Given the description of an element on the screen output the (x, y) to click on. 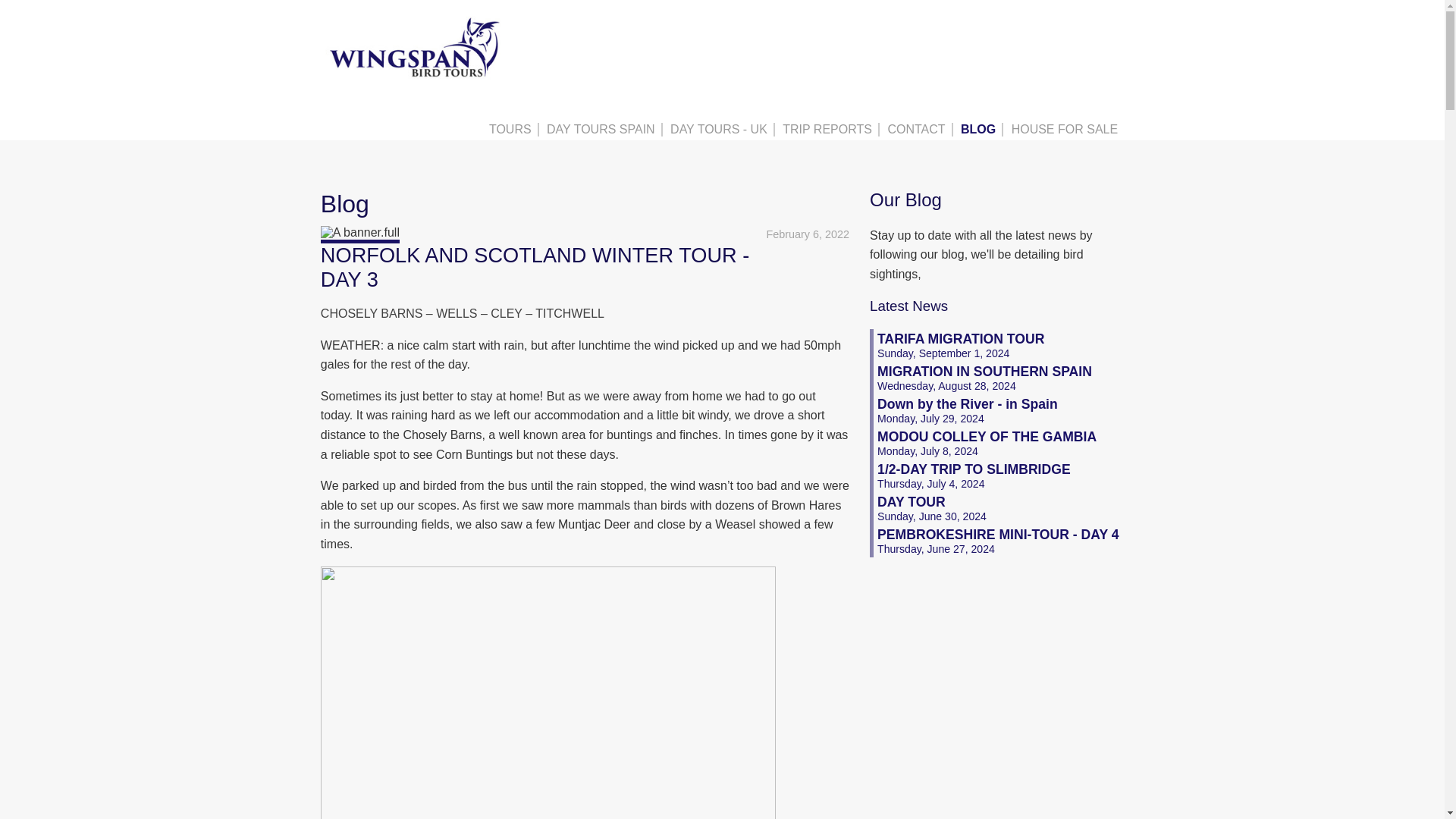
DAY TOURS - UK (719, 129)
NORFOLK AND SCOTLAND WINTER TOUR - DAY 3 (534, 268)
TOURS (511, 129)
Latest News (908, 305)
BLOG (998, 345)
DAY TOURS SPAIN (998, 377)
CONTACT (979, 129)
Blog (601, 129)
